Given the description of an element on the screen output the (x, y) to click on. 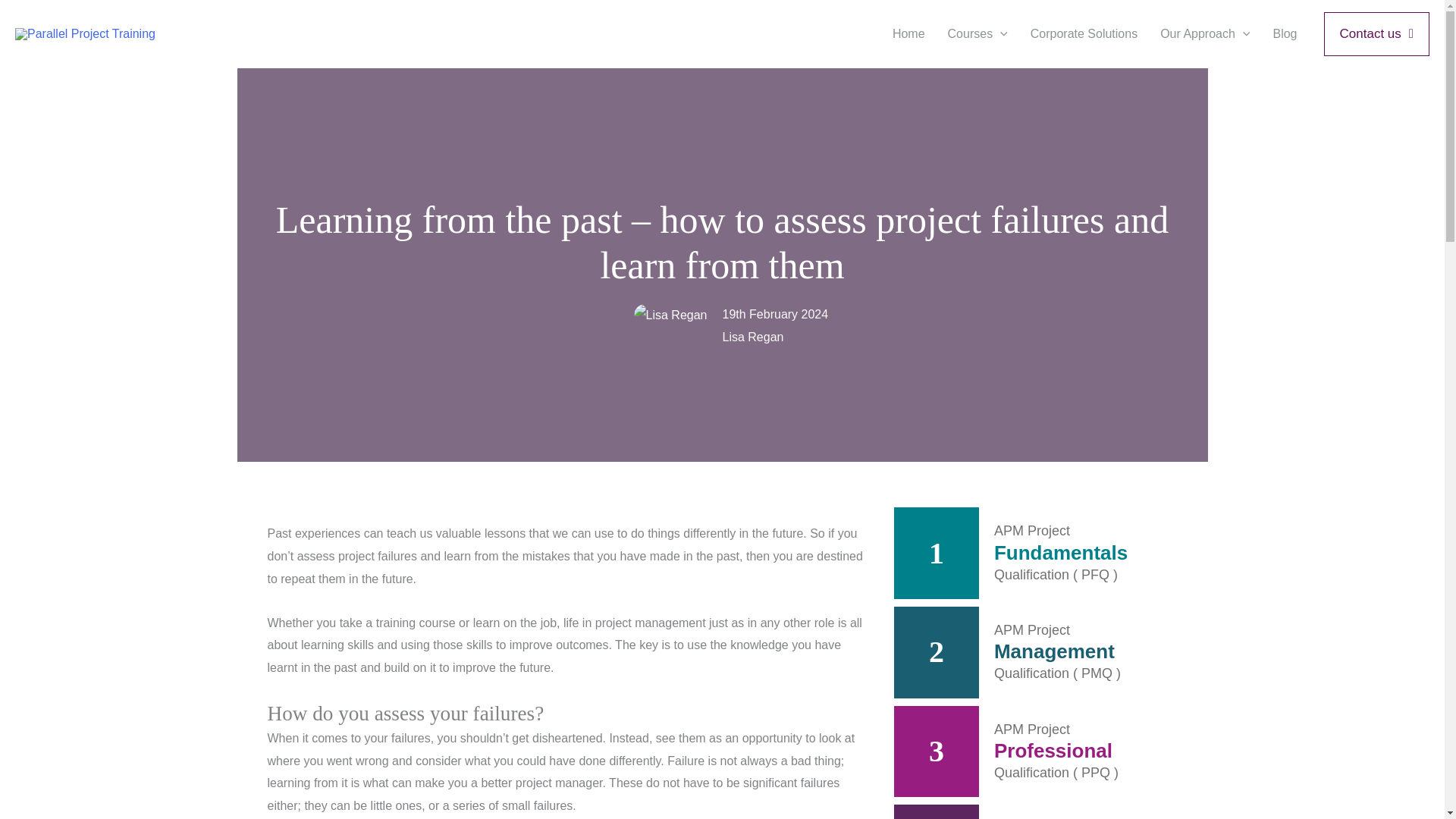
Corporate Solutions (1083, 33)
Contact us (1376, 34)
Courses (977, 33)
Our Approach (1204, 33)
